Given the description of an element on the screen output the (x, y) to click on. 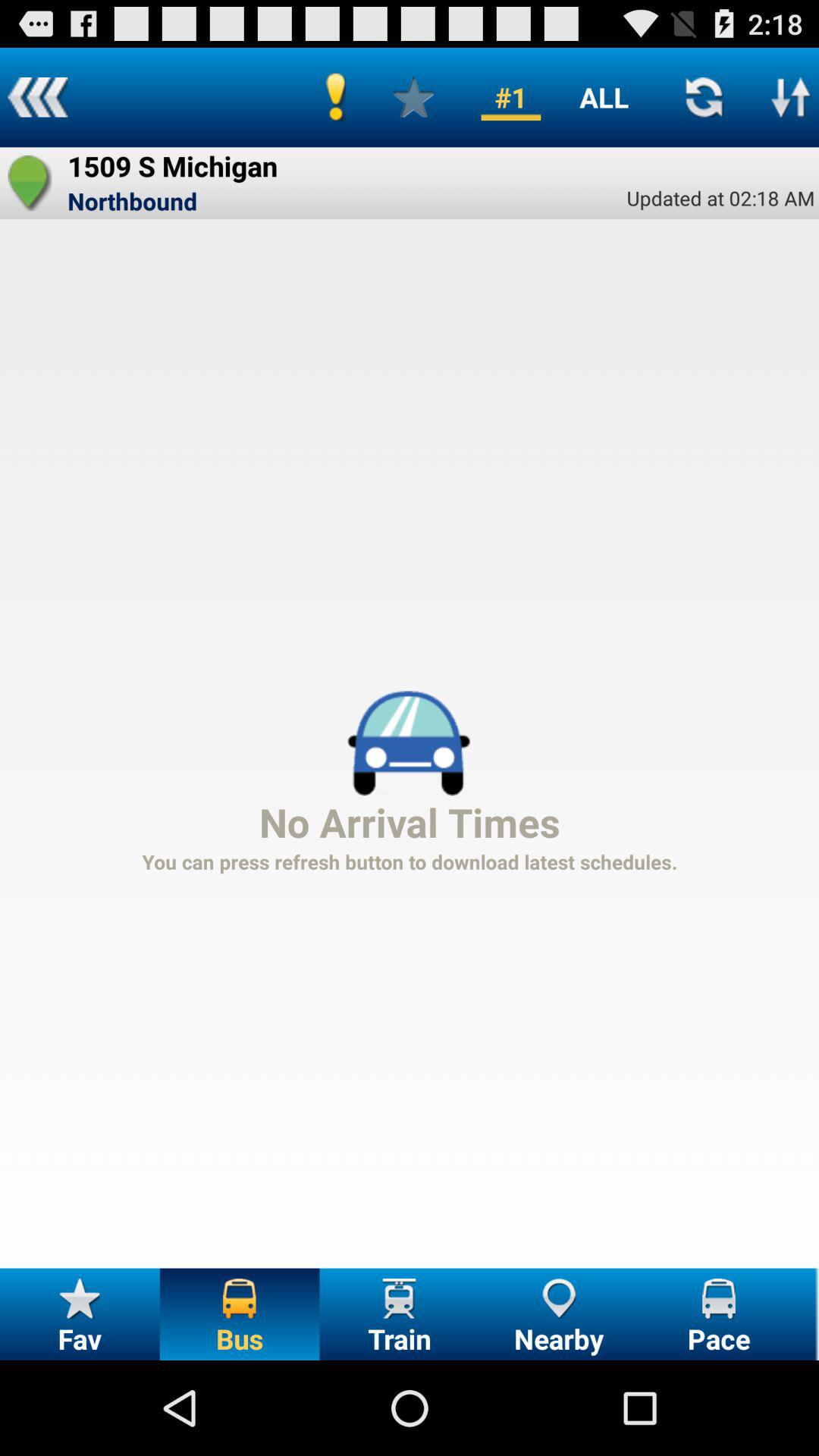
open the app next to 1509 s michigan (29, 183)
